Given the description of an element on the screen output the (x, y) to click on. 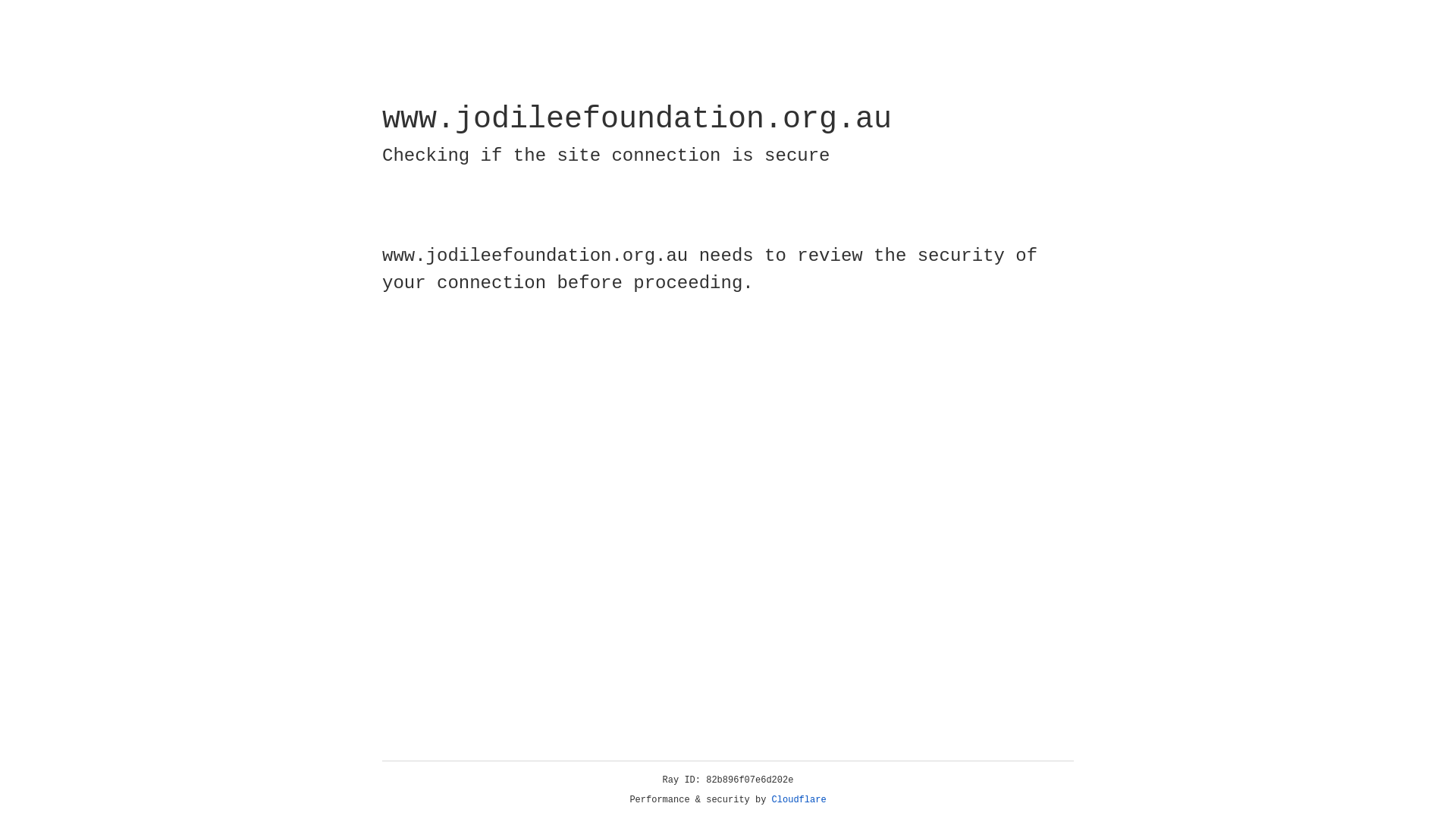
Cloudflare Element type: text (798, 799)
